Given the description of an element on the screen output the (x, y) to click on. 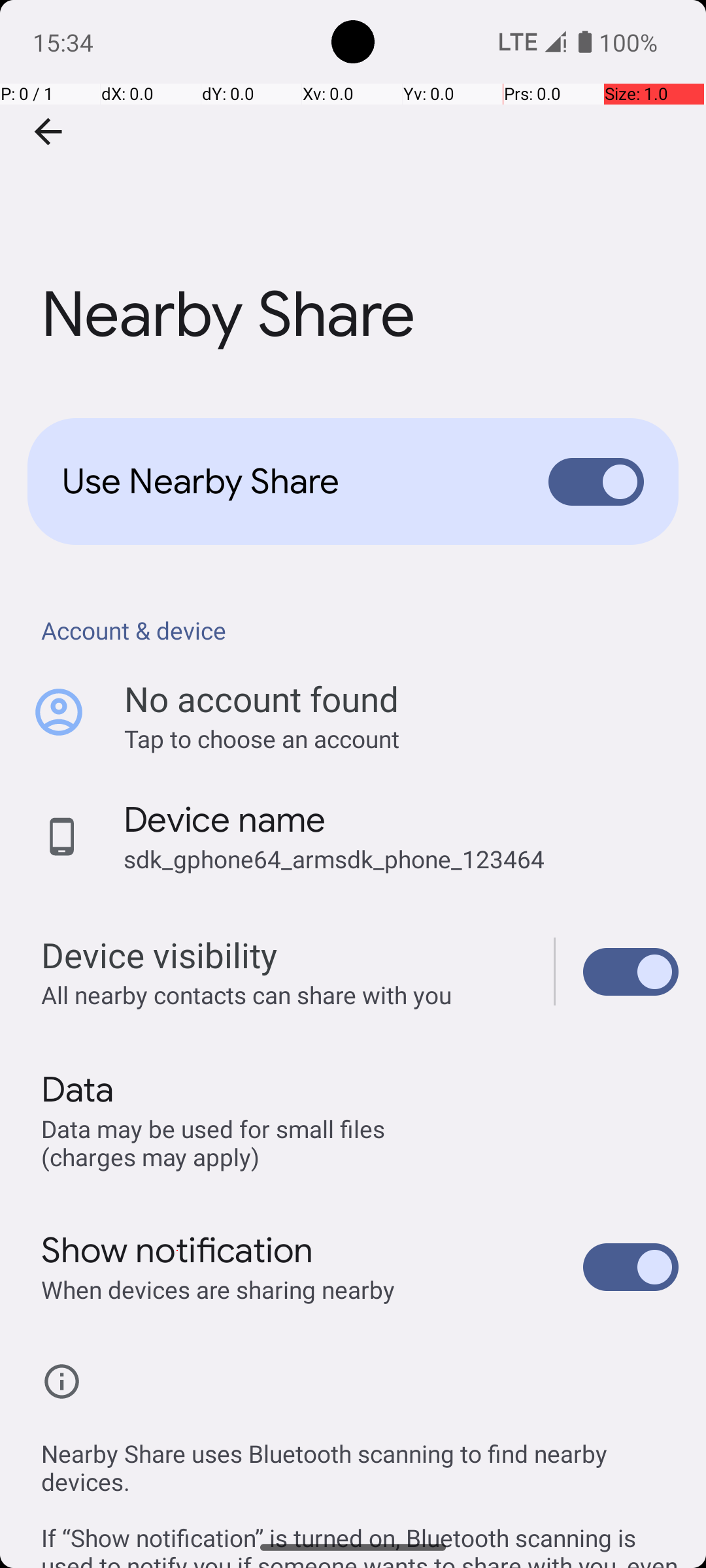
Nearby Share Element type: android.widget.FrameLayout (353, 195)
Use Nearby Share Element type: android.widget.TextView (284, 481)
Account & device Element type: android.widget.TextView (359, 629)
No account found Element type: android.widget.TextView (261, 698)
Tap to choose an account Element type: android.widget.TextView (401, 738)
Device name Element type: android.widget.TextView (224, 819)
sdk_gphone64_armsdk_phone_123464 Element type: android.widget.TextView (333, 858)
Device visibility Element type: android.widget.Switch (630, 971)
Data Element type: android.widget.TextView (77, 1089)
Data may be used for small files 
(charges may apply) Element type: android.widget.TextView (215, 1142)
Show notification Element type: android.widget.TextView (177, 1250)
When devices are sharing nearby Element type: android.widget.TextView (218, 1289)
Nearby Share uses Bluetooth scanning to find nearby devices. 

If “Show notification” is turned on, Bluetooth scanning is used to notify you if someone wants to share with you, even when Nearby Share is turned off. Element type: android.widget.TextView (359, 1488)
All nearby contacts can share with you Element type: android.widget.TextView (283, 994)
